Given the description of an element on the screen output the (x, y) to click on. 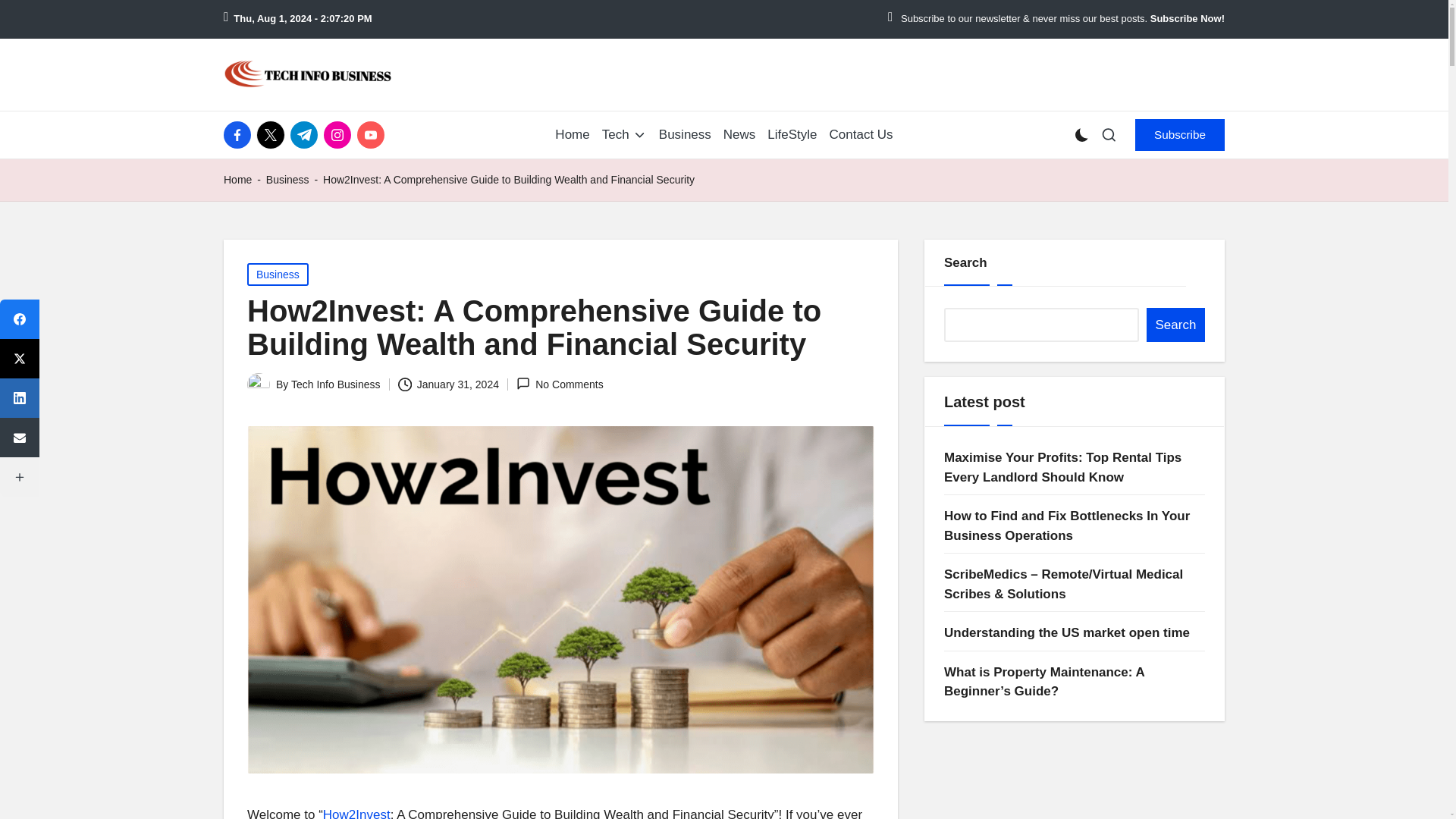
facebook.com (240, 134)
Subscribe Now! (1187, 18)
twitter.com (273, 134)
Home (237, 179)
Business (287, 179)
t.me (306, 134)
Business (685, 134)
youtube.com (373, 134)
Subscribe (1179, 134)
